Given the description of an element on the screen output the (x, y) to click on. 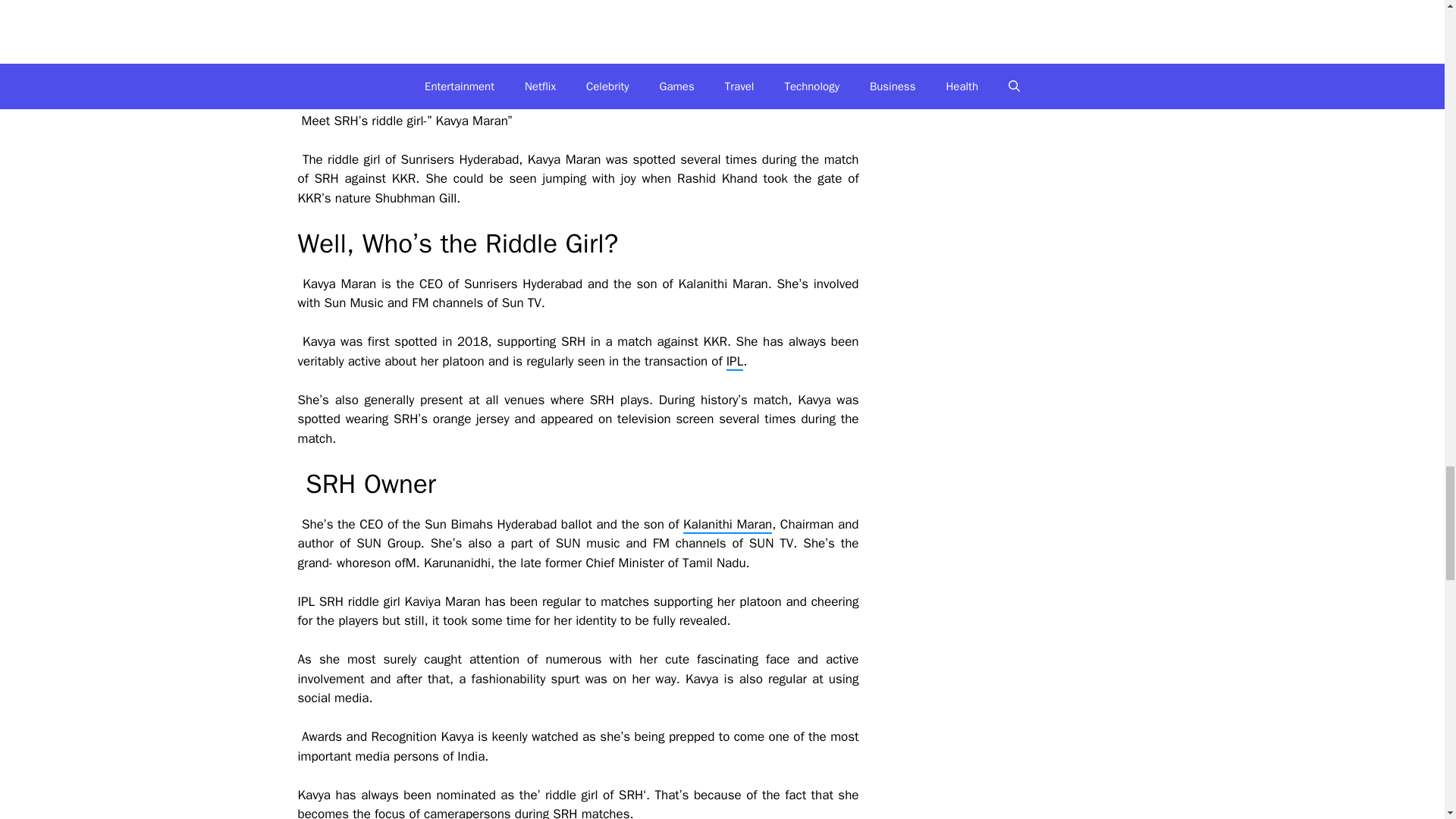
IPL (734, 361)
Kalanithi Maran (726, 524)
